Given the description of an element on the screen output the (x, y) to click on. 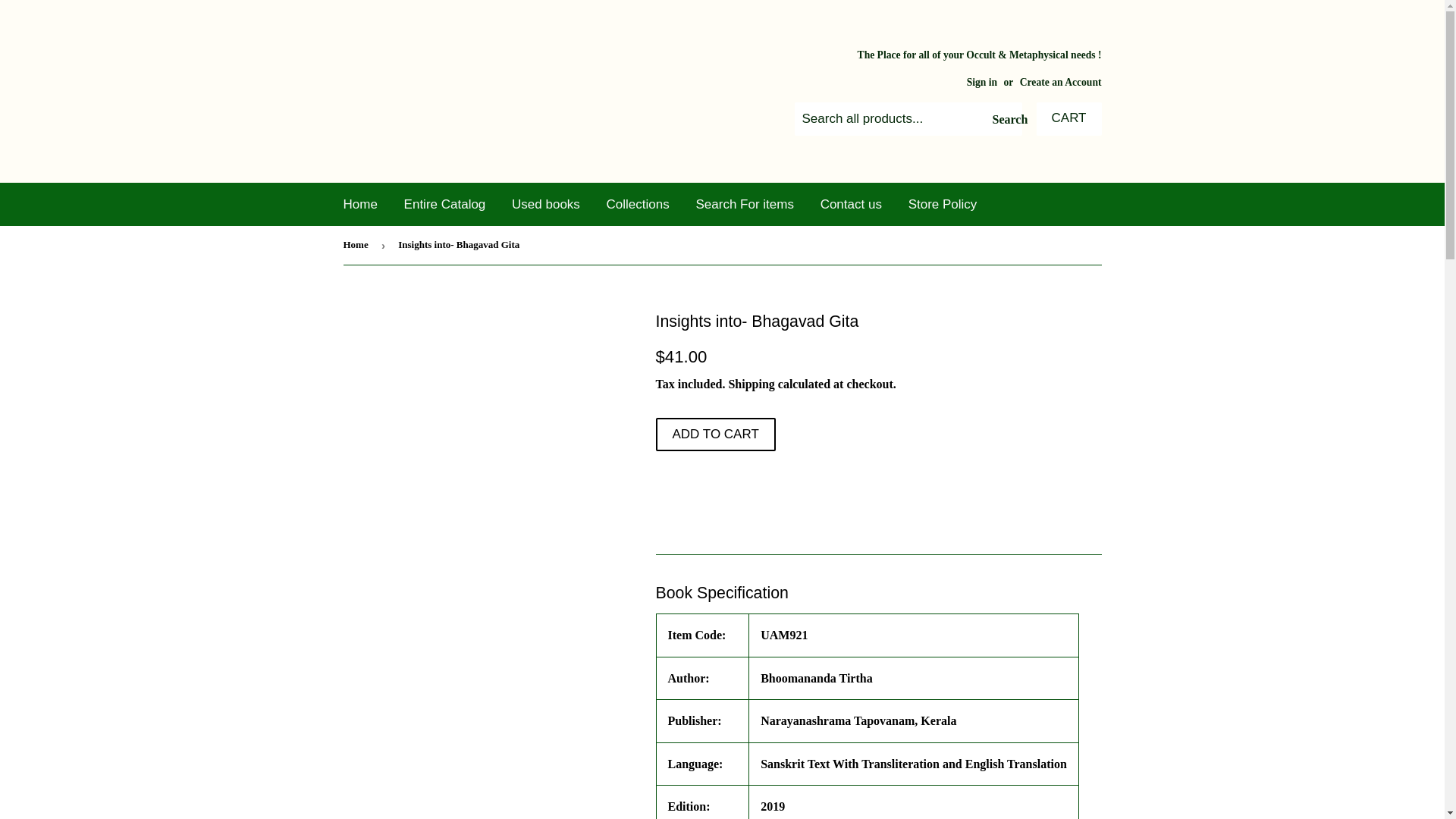
CART (1069, 118)
Shipping (751, 383)
Entire Catalog (445, 204)
Home (359, 204)
Search For items (744, 204)
Store Policy (942, 204)
Contact us (851, 204)
Used books (545, 204)
Search (1005, 119)
Bhoomananda Tirtha (816, 677)
Create an Account (1061, 81)
Narayanashrama Tapovanam, Kerala (858, 720)
Sign in (981, 81)
ADD TO CART (714, 434)
Collections (638, 204)
